Given the description of an element on the screen output the (x, y) to click on. 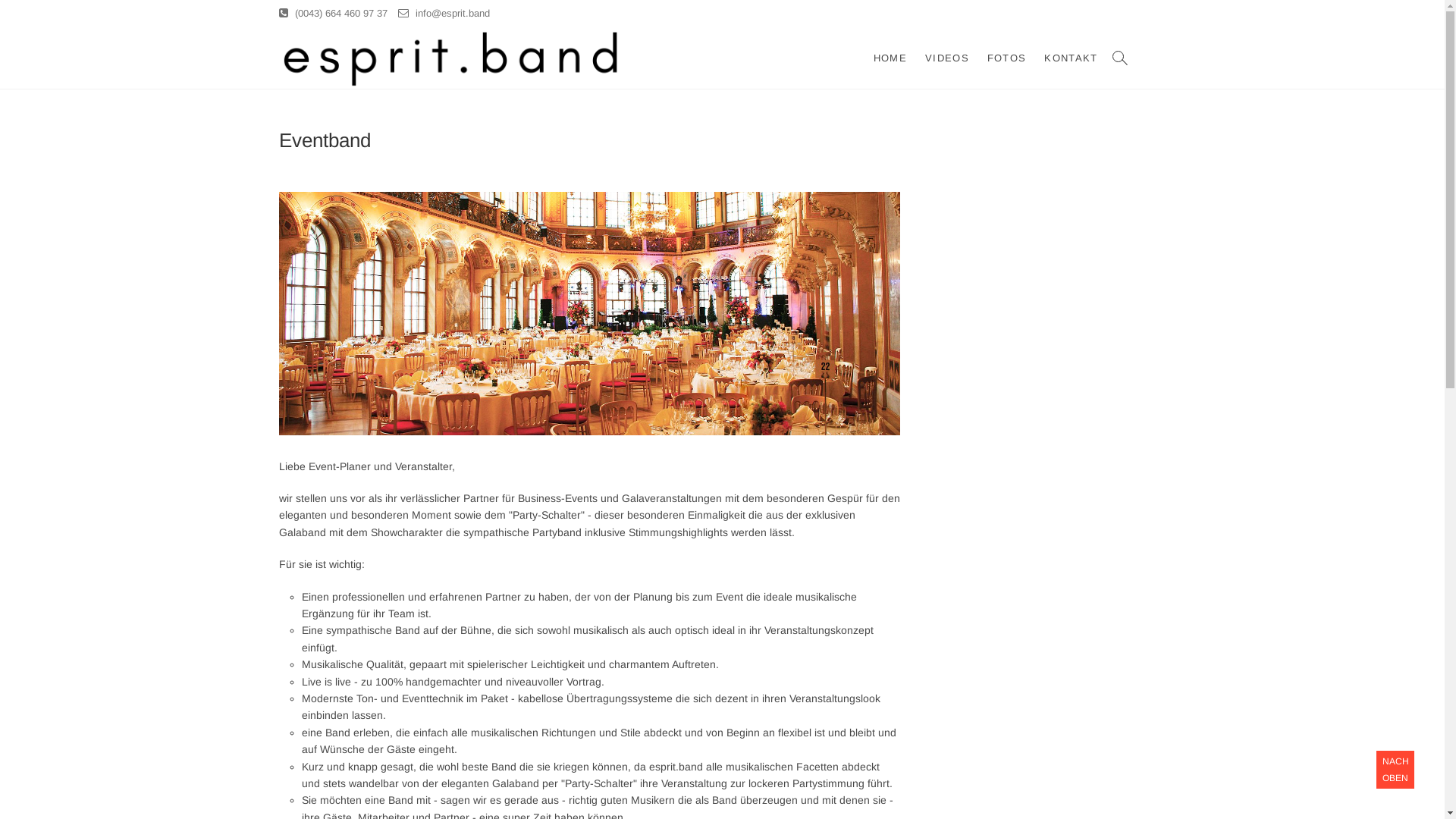
(0043) 664 460 97 37 Element type: text (333, 12)
VIDEOS Element type: text (946, 58)
KONTAKT Element type: text (1070, 58)
NACH OBEN Element type: text (1395, 769)
HOME Element type: text (890, 58)
FOTOS Element type: text (1006, 58)
esprit.band Element type: text (693, 53)
info@esprit.band Element type: text (443, 12)
